Given the description of an element on the screen output the (x, y) to click on. 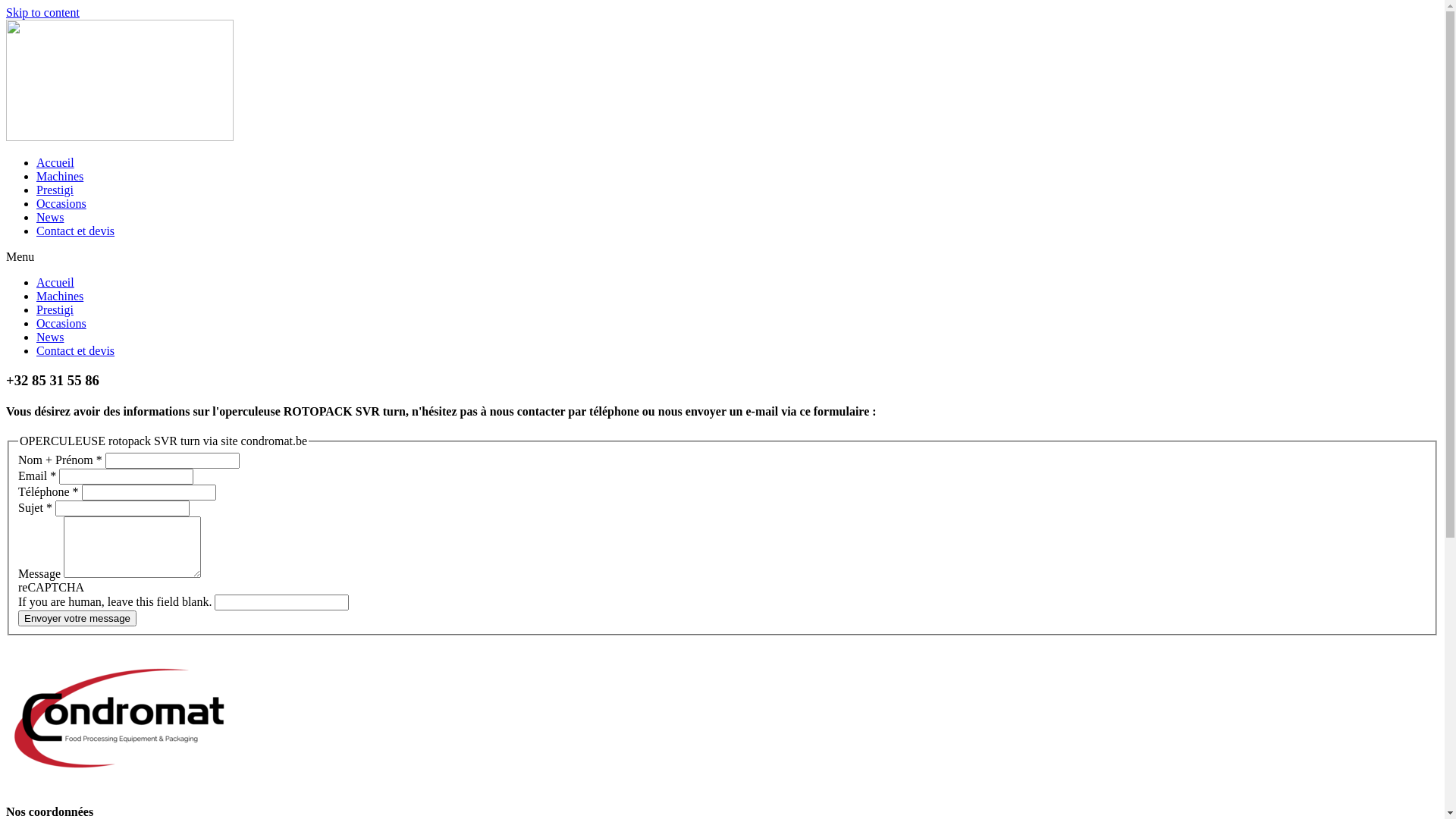
Prestigi Element type: text (54, 309)
Prestigi Element type: text (54, 189)
News Element type: text (49, 216)
Accueil Element type: text (55, 282)
Occasions Element type: text (61, 322)
Skip to content Element type: text (42, 12)
Occasions Element type: text (61, 203)
Contact et devis Element type: text (75, 350)
Machines Element type: text (59, 175)
News Element type: text (49, 336)
Accueil Element type: text (55, 162)
Machines Element type: text (59, 295)
Envoyer votre message Element type: text (77, 618)
Contact et devis Element type: text (75, 230)
